Given the description of an element on the screen output the (x, y) to click on. 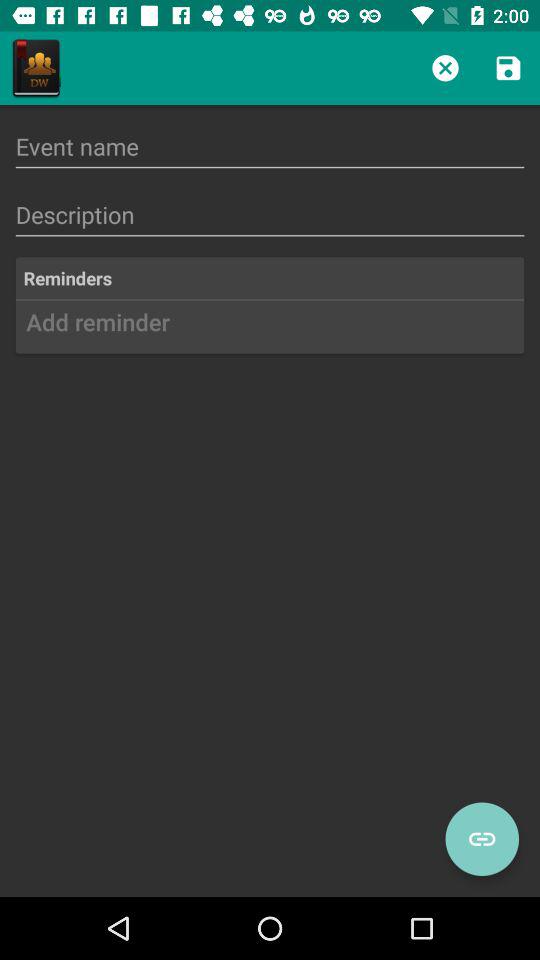
link toggle (482, 839)
